Given the description of an element on the screen output the (x, y) to click on. 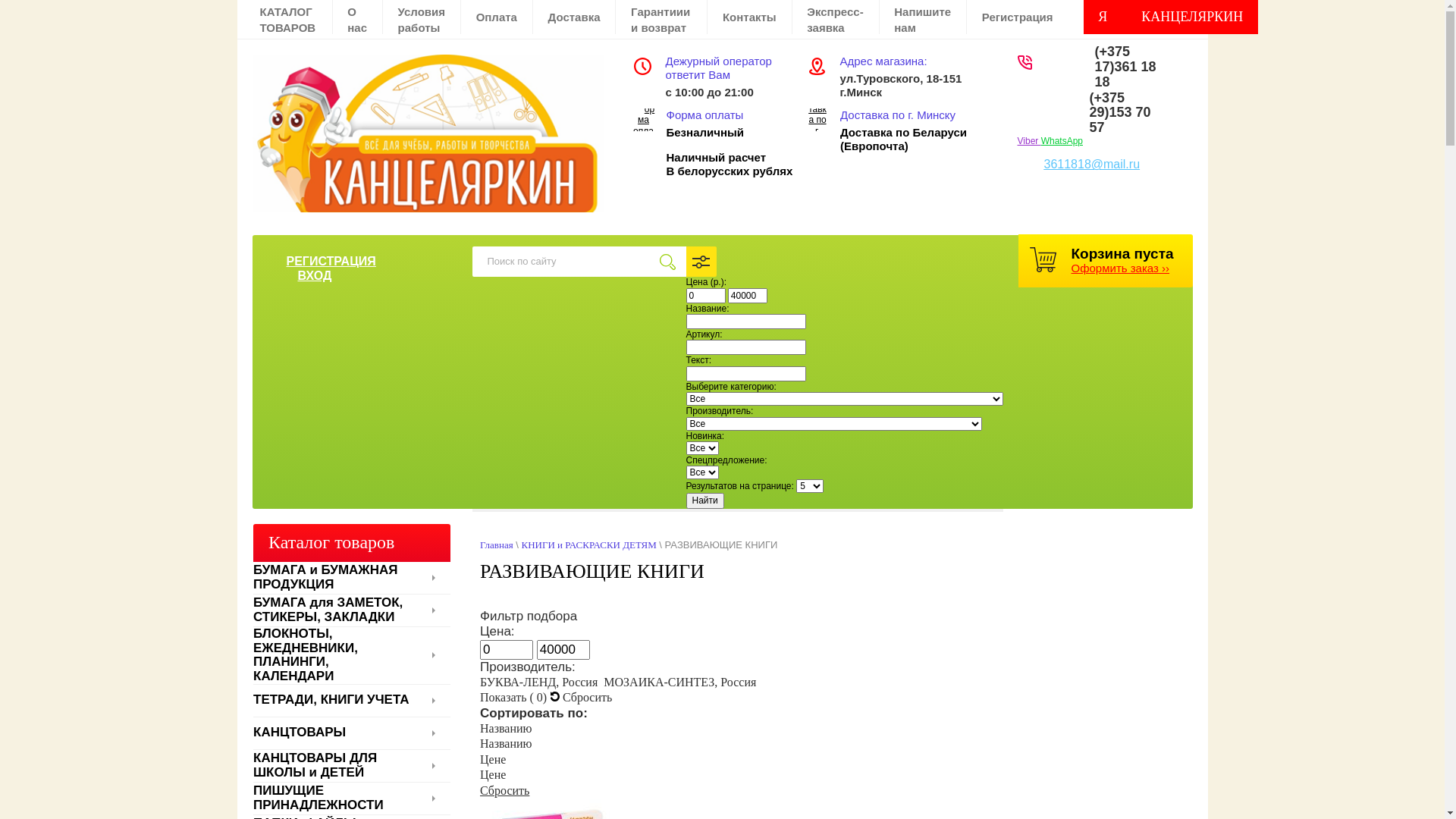
WhatsApp Element type: text (1061, 140)
3611818@mail.ru Element type: text (1091, 163)
(+375 17)361 18 18 Element type: text (1125, 66)
(+375 29)153 70 57 Element type: text (1119, 112)
Viber Element type: text (1029, 140)
